Given the description of an element on the screen output the (x, y) to click on. 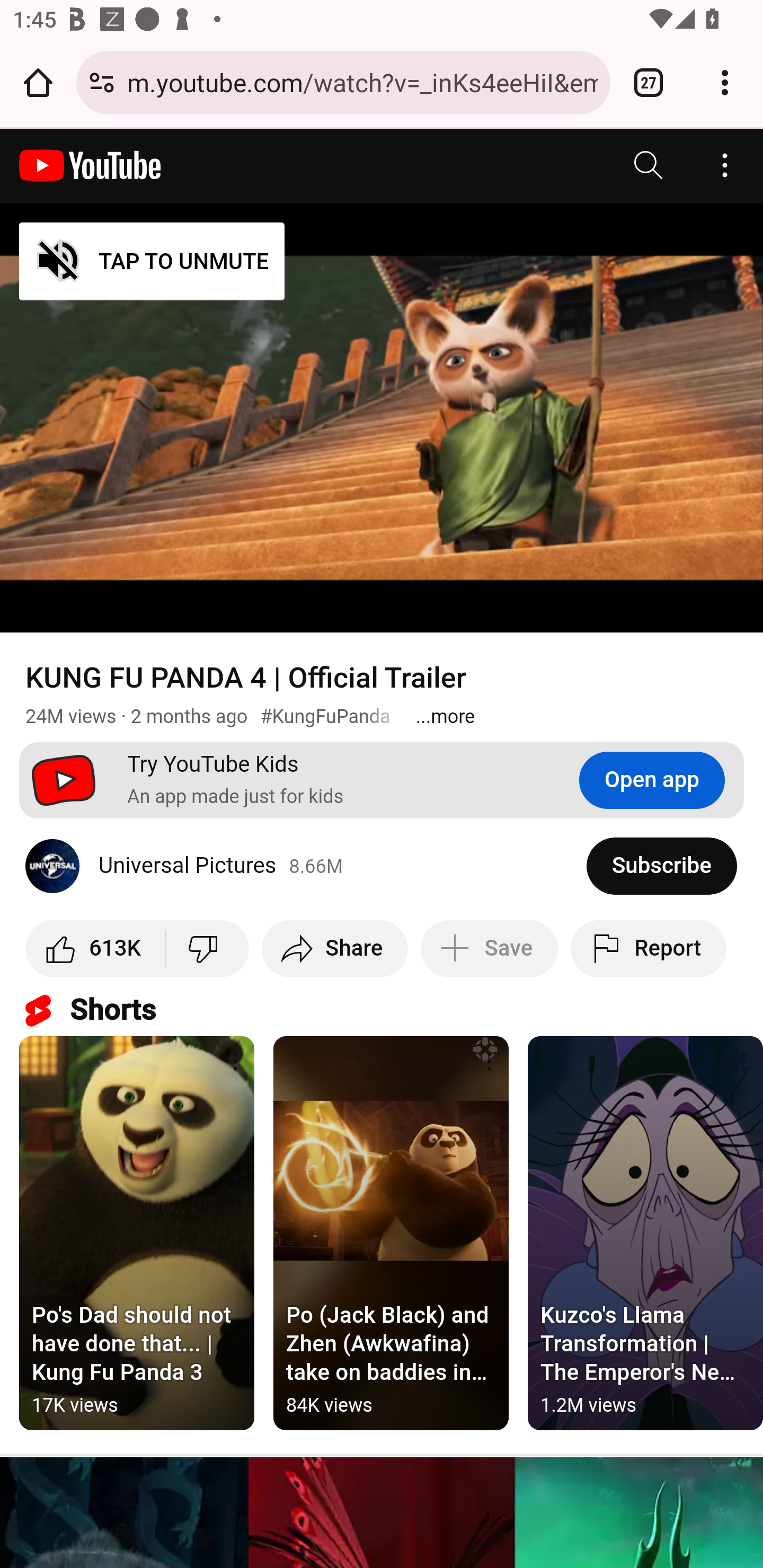
Open the home page (38, 82)
Connection is secure (101, 82)
Switch or close tabs (648, 82)
Customize and control Google Chrome (724, 82)
YouTube (89, 165)
Search YouTube (648, 165)
Account (724, 165)
TAP TO UNMUTE (152, 261)
Show more (445, 716)
#KungFuPanda (324, 716)
Open app (651, 780)
Subscribe to Universal Pictures. (661, 866)
Universal Pictures (305, 865)
like this video along with 613,427 other people (96, 948)
Dislike this video (207, 948)
Share (334, 948)
Save to playlist (489, 948)
Report (648, 948)
